Given the description of an element on the screen output the (x, y) to click on. 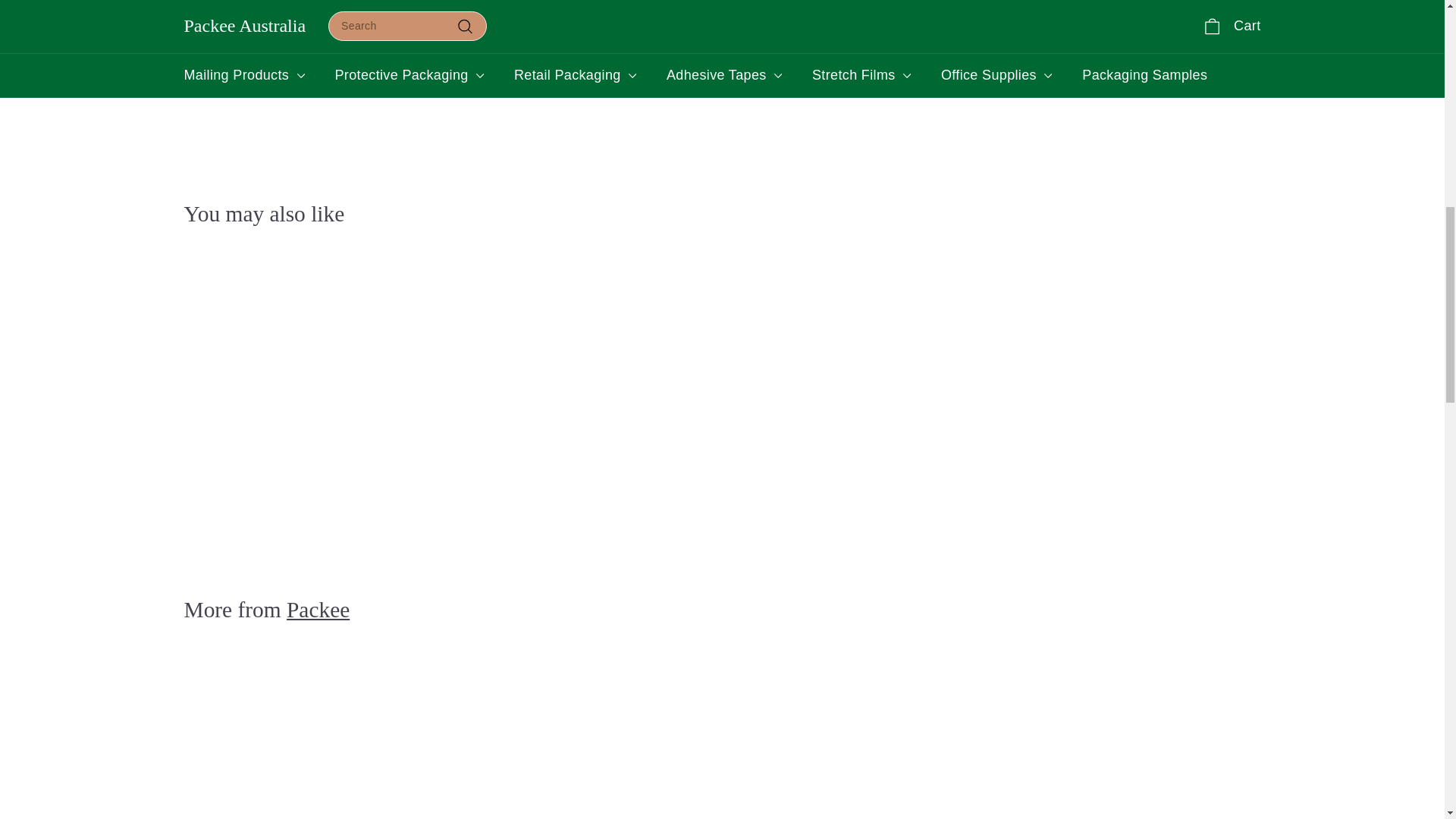
Packee (317, 609)
